Given the description of an element on the screen output the (x, y) to click on. 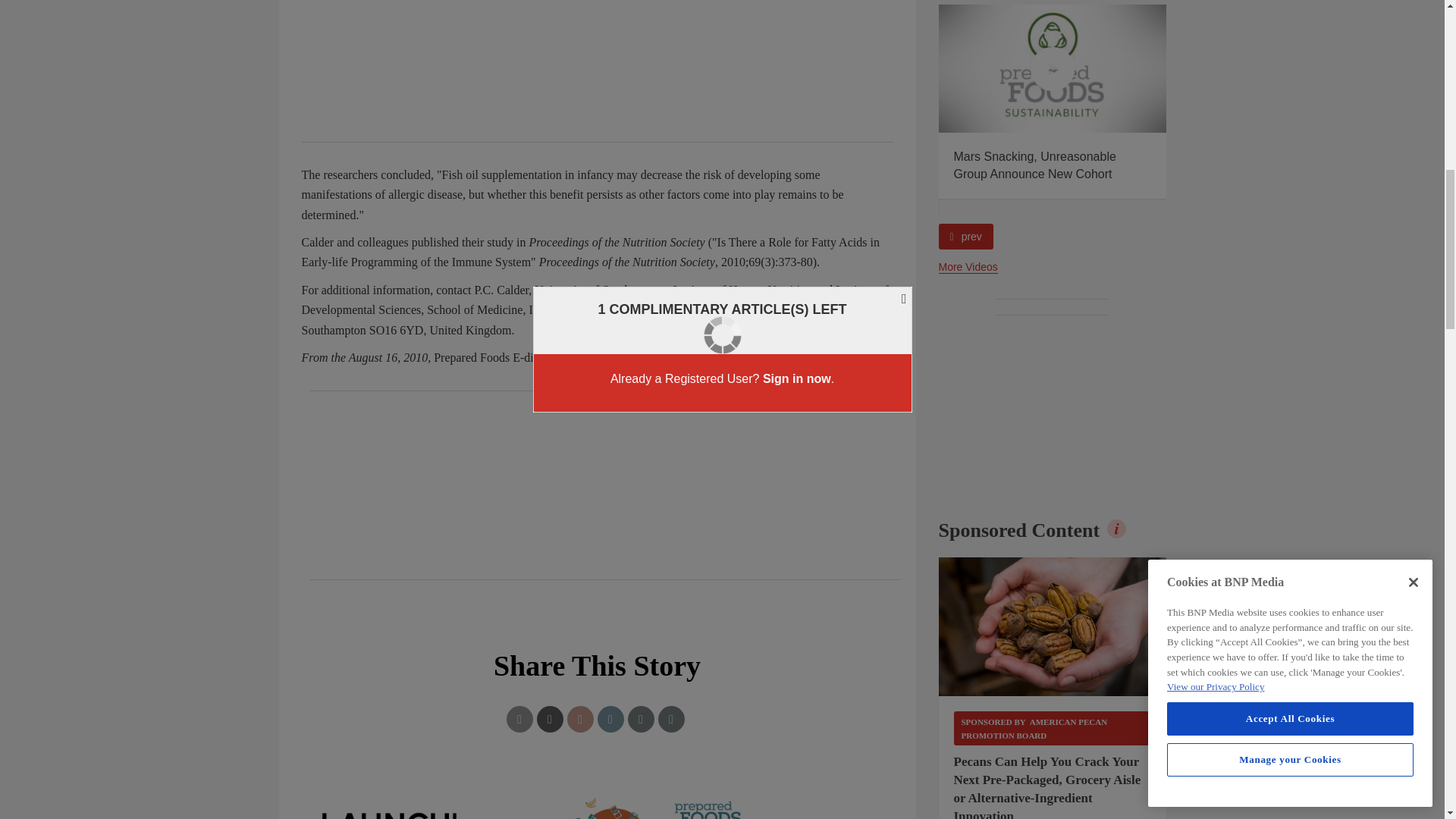
Mars Snacking, Unreasonable Group Announce New Cohort (1052, 68)
Interaction questions (597, 800)
Handful of Partially Shelled Pecans (1052, 626)
Sponsored by American Pecan Promotion Board (1052, 728)
